Given the description of an element on the screen output the (x, y) to click on. 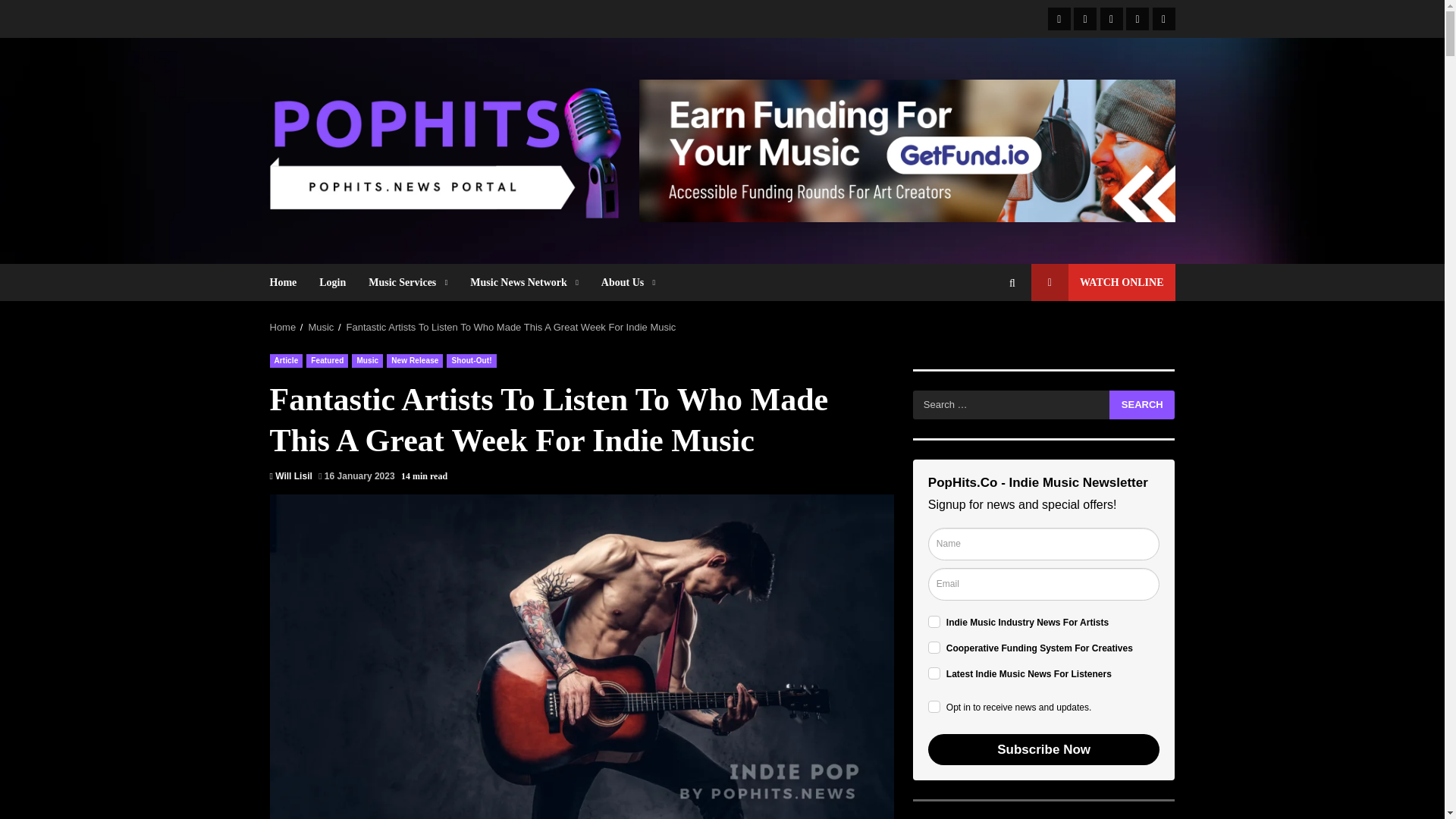
Home (283, 326)
About Us (622, 282)
Music News Network (523, 282)
WATCH ONLINE (1102, 282)
Search (1141, 404)
Login (331, 282)
Search (1141, 404)
Home (288, 282)
Music Services (407, 282)
Search (984, 334)
